Given the description of an element on the screen output the (x, y) to click on. 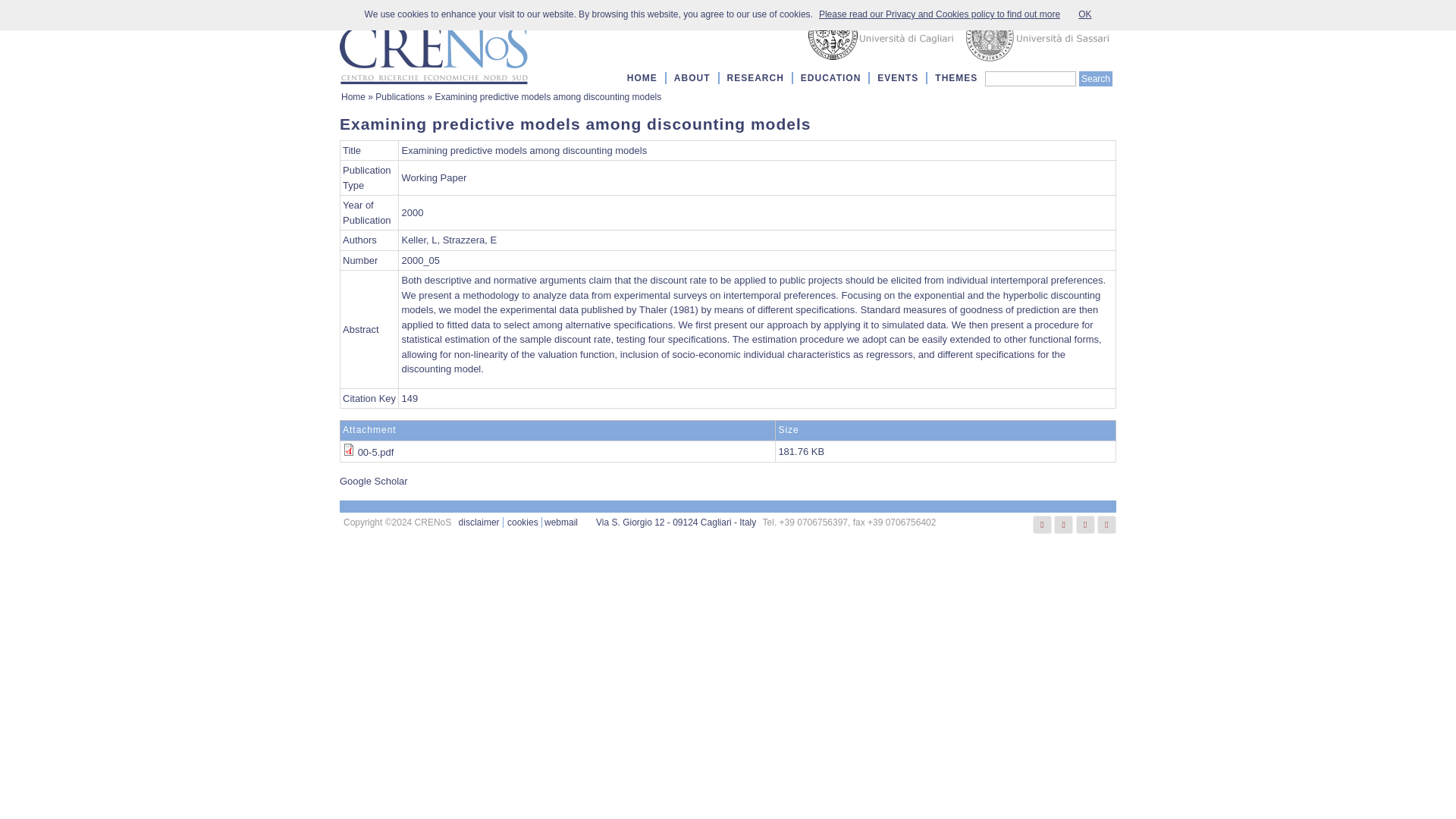
disclaimer (478, 521)
THEMES (956, 77)
Please read our Privacy and Cookies policy to find out more (938, 14)
cookies (522, 521)
disclaimer (478, 521)
Click to search Google Scholar for this entry (373, 480)
EVENTS (897, 77)
Search (1095, 78)
EVENTS (897, 77)
EDUCATION (830, 77)
Home (434, 46)
EDUCATION (830, 77)
ABOUT (691, 77)
OK (1084, 14)
00-5.pdf (376, 451)
